Given the description of an element on the screen output the (x, y) to click on. 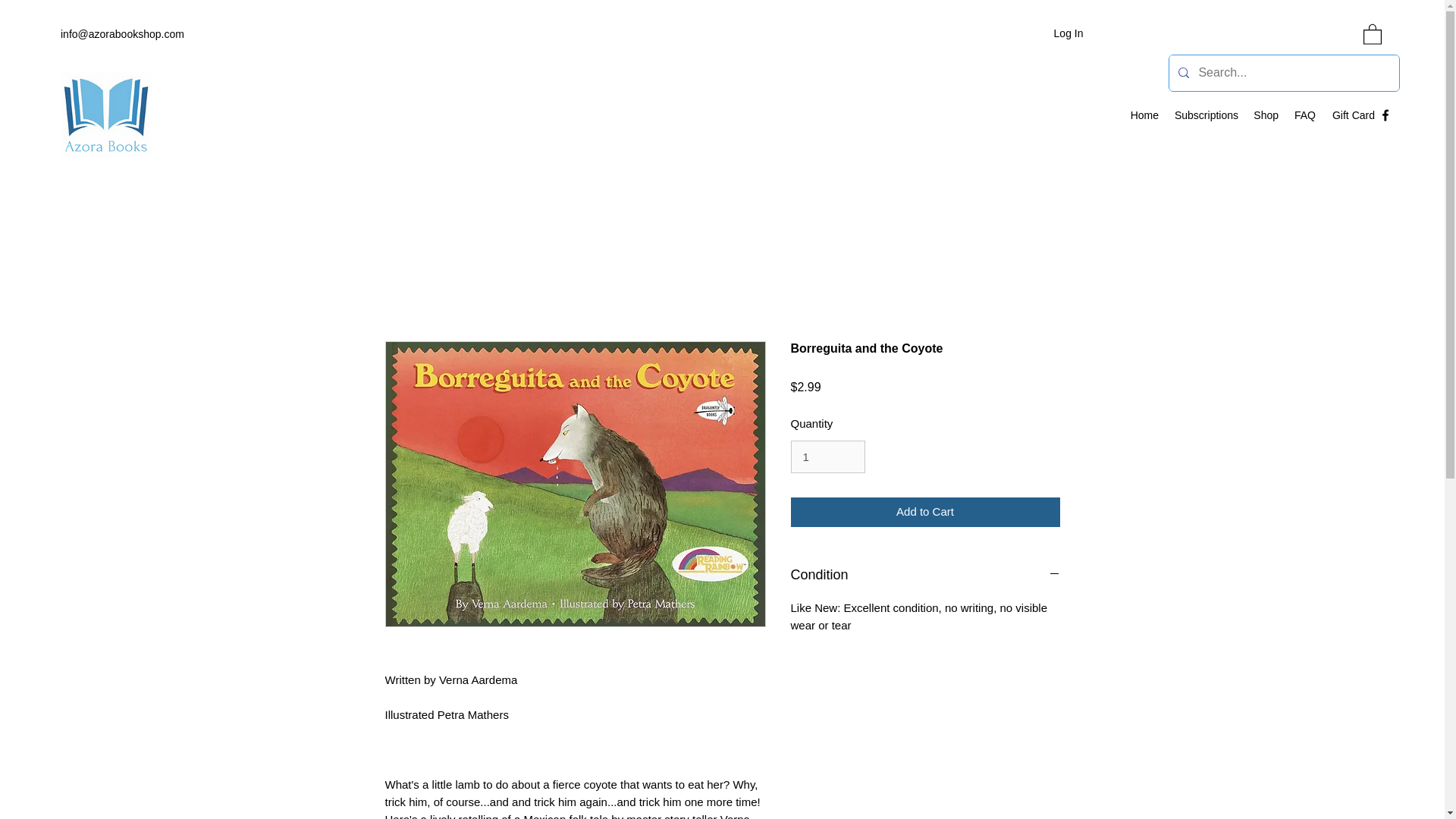
Gift Card (1352, 115)
Home (1144, 115)
Subscriptions (1206, 115)
Add to Cart (924, 512)
1 (827, 457)
Condition (924, 575)
Shop (1265, 115)
Log In (1068, 33)
FAQ (1304, 115)
